Given the description of an element on the screen output the (x, y) to click on. 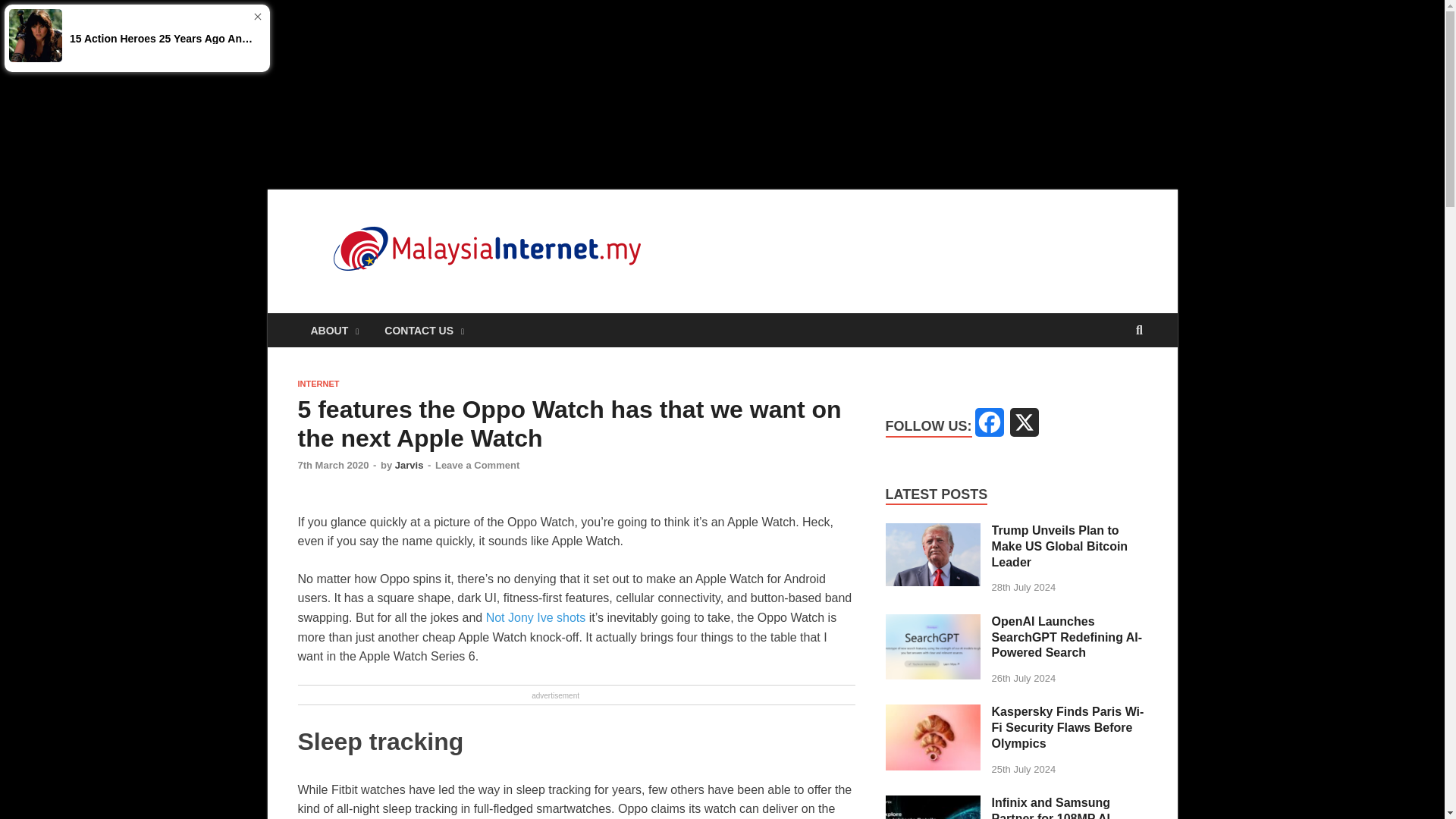
Kaspersky Finds Paris Wi-Fi Security Flaws Before Olympics (932, 712)
Trump Unveils Plan to Make US Global Bitcoin Leader (1059, 546)
OpenAI Launches SearchGPT Redefining AI-Powered Search (1066, 637)
Malaysia Internet (797, 241)
Trump Unveils Plan to Make US Global Bitcoin Leader 3 (932, 554)
CONTACT US (424, 329)
Trump Unveils Plan to Make US Global Bitcoin Leader (932, 531)
Jarvis (408, 464)
Kaspersky Finds Paris Wi-Fi Security Flaws Before Olympics (1067, 727)
OpenAI Launches SearchGPT Redefining AI-Powered Search (932, 622)
7th March 2020 (332, 464)
Leave a Comment (477, 464)
INTERNET (318, 383)
OpenAI Launches SearchGPT Redefining AI-Powered Search 4 (932, 646)
Not Jony Ive shots (536, 617)
